Given the description of an element on the screen output the (x, y) to click on. 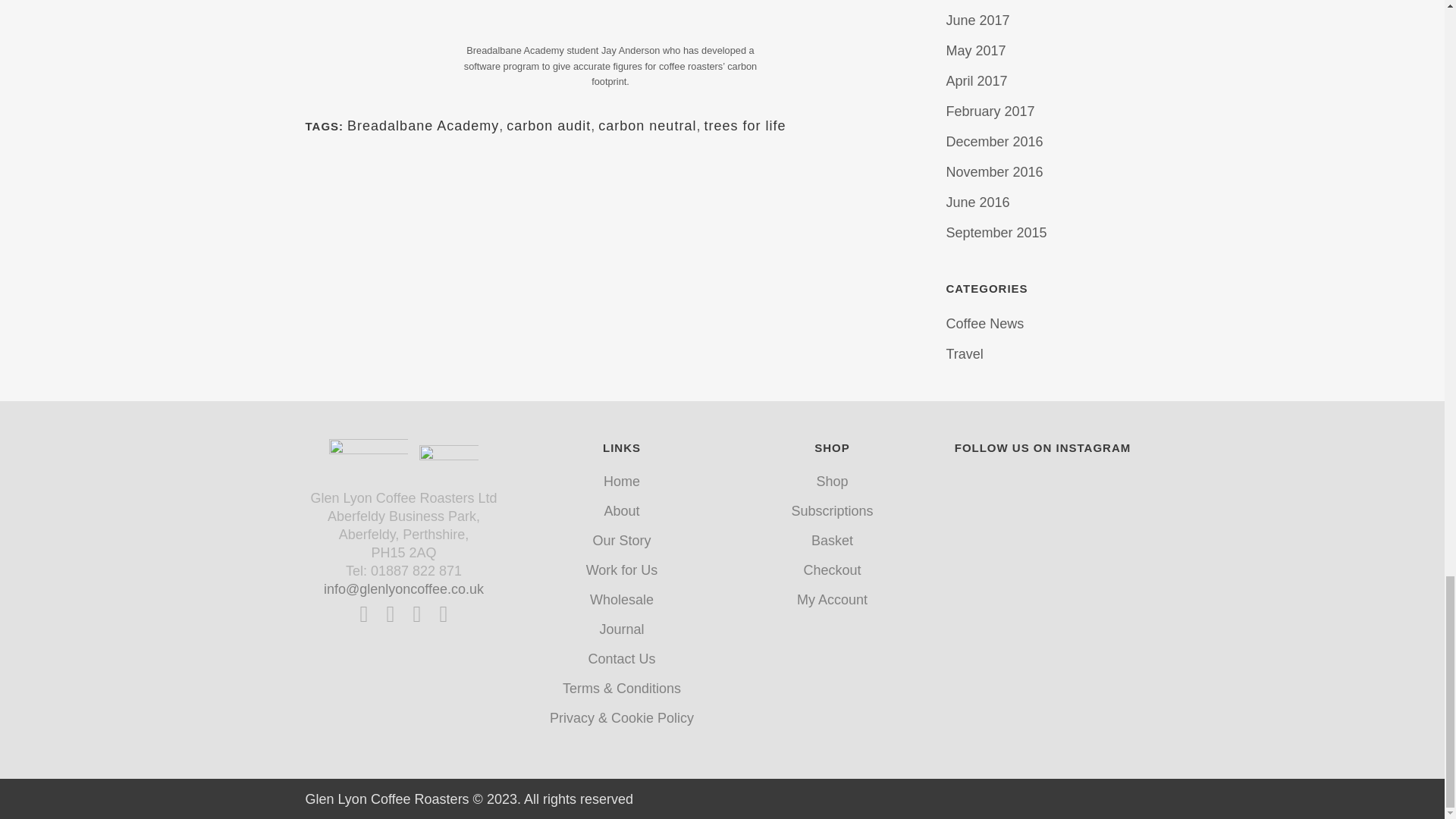
Breadalbane Academy (423, 125)
carbon audit (548, 125)
trees for life (744, 125)
carbon neutral (646, 125)
